Given the description of an element on the screen output the (x, y) to click on. 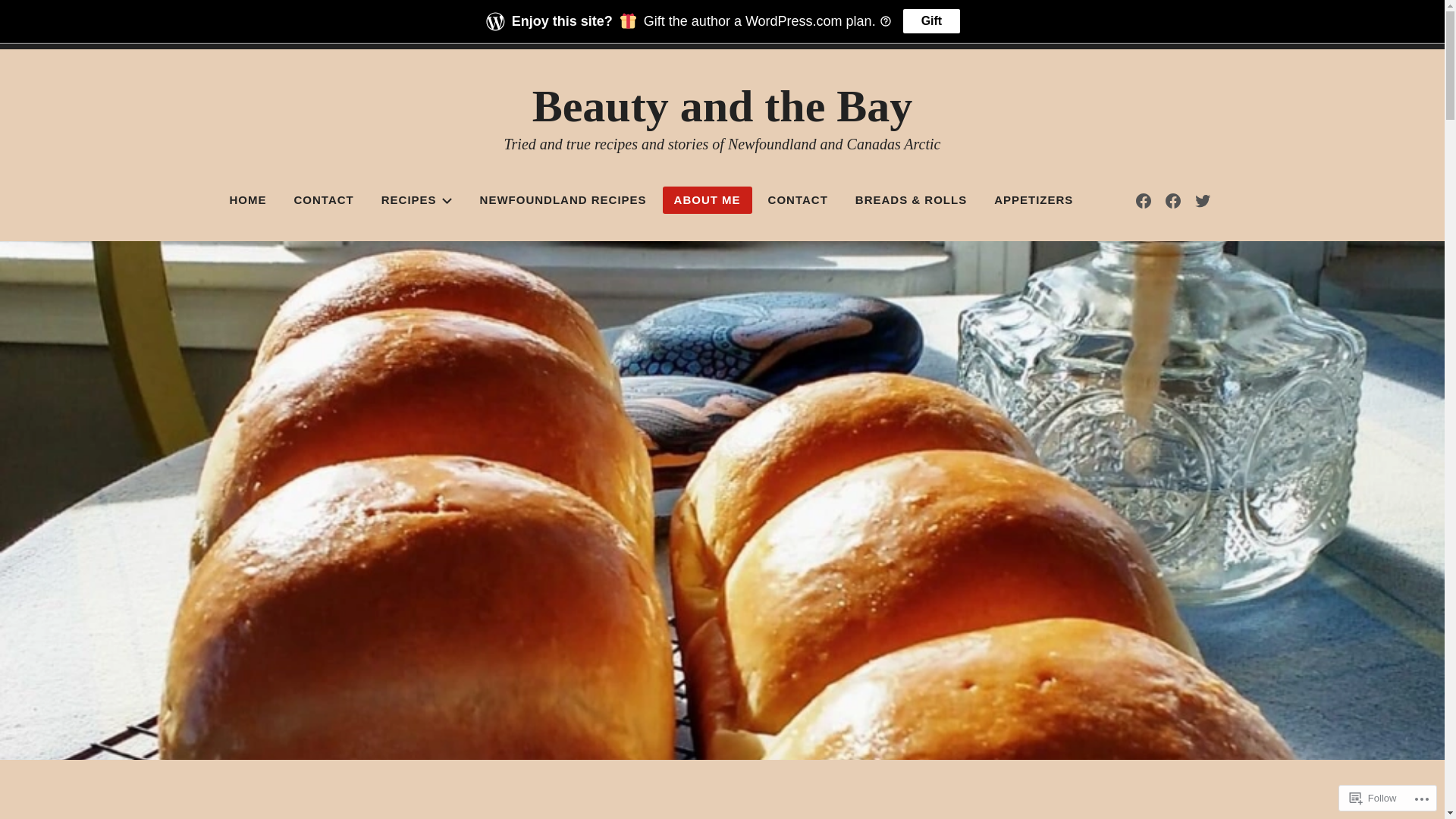
Gift Element type: text (931, 21)
RECIPES Element type: text (417, 199)
HOME Element type: text (248, 199)
CONTACT Element type: text (797, 199)
Follow Element type: text (1372, 797)
BREADS & ROLLS Element type: text (911, 199)
CONTACT Element type: text (323, 199)
APPETIZERS Element type: text (1033, 199)
ABOUT ME Element type: text (707, 199)
NEWFOUNDLAND RECIPES Element type: text (563, 199)
Beauty and the Bay Element type: text (722, 106)
